Given the description of an element on the screen output the (x, y) to click on. 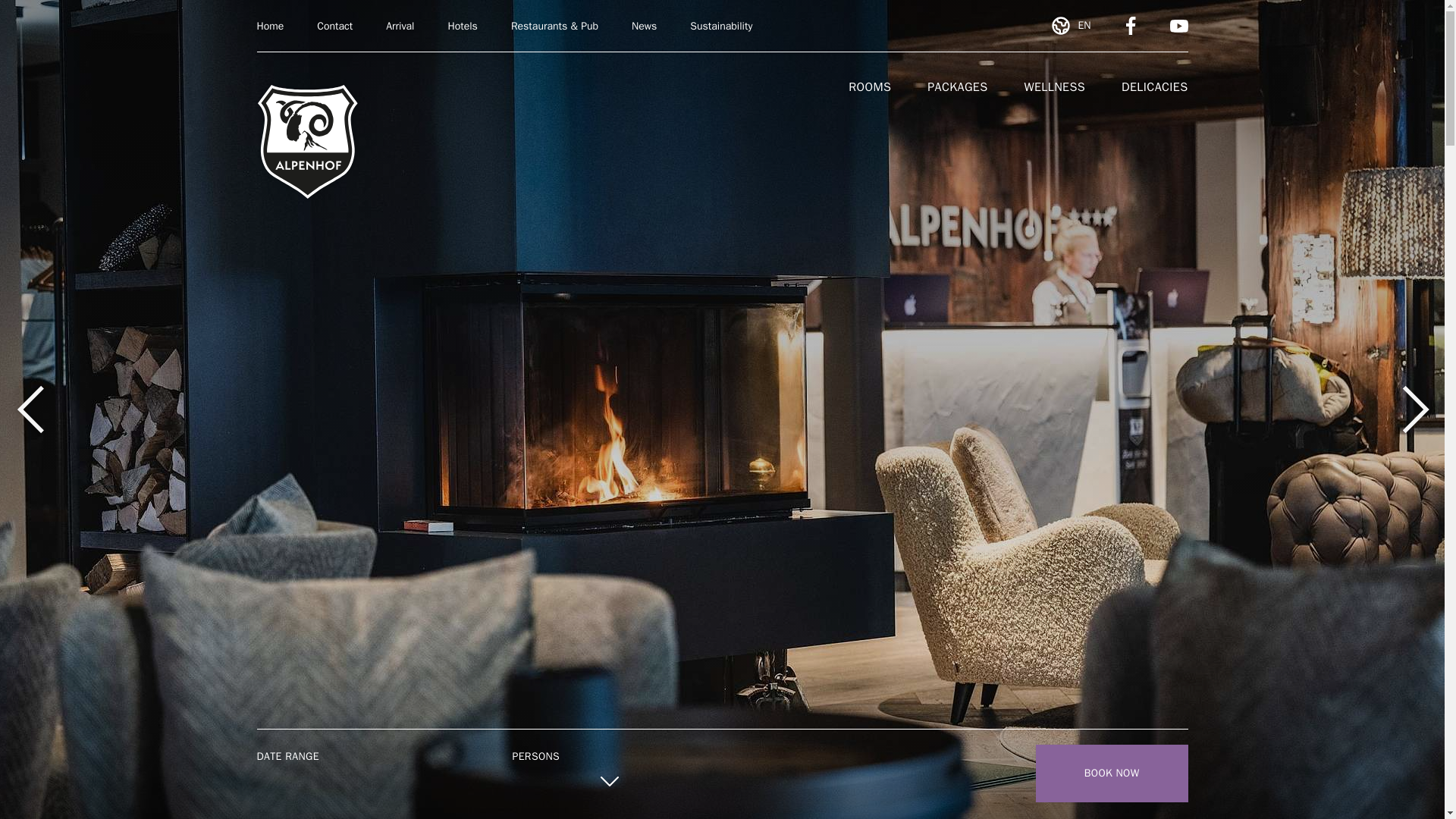
Visit us at Facebook (1129, 25)
Arrival (399, 25)
Back to home (307, 142)
WELLNESS (1053, 86)
Home (269, 25)
Visit us at Facebook (1129, 25)
ROOMS (869, 86)
Contact (334, 25)
EN (1069, 25)
Visit us at Youtube (1178, 25)
Sustainability (721, 25)
PACKAGES (957, 86)
News (643, 25)
DELICACIES (1154, 86)
Visit us at Youtube (1178, 25)
